Given the description of an element on the screen output the (x, y) to click on. 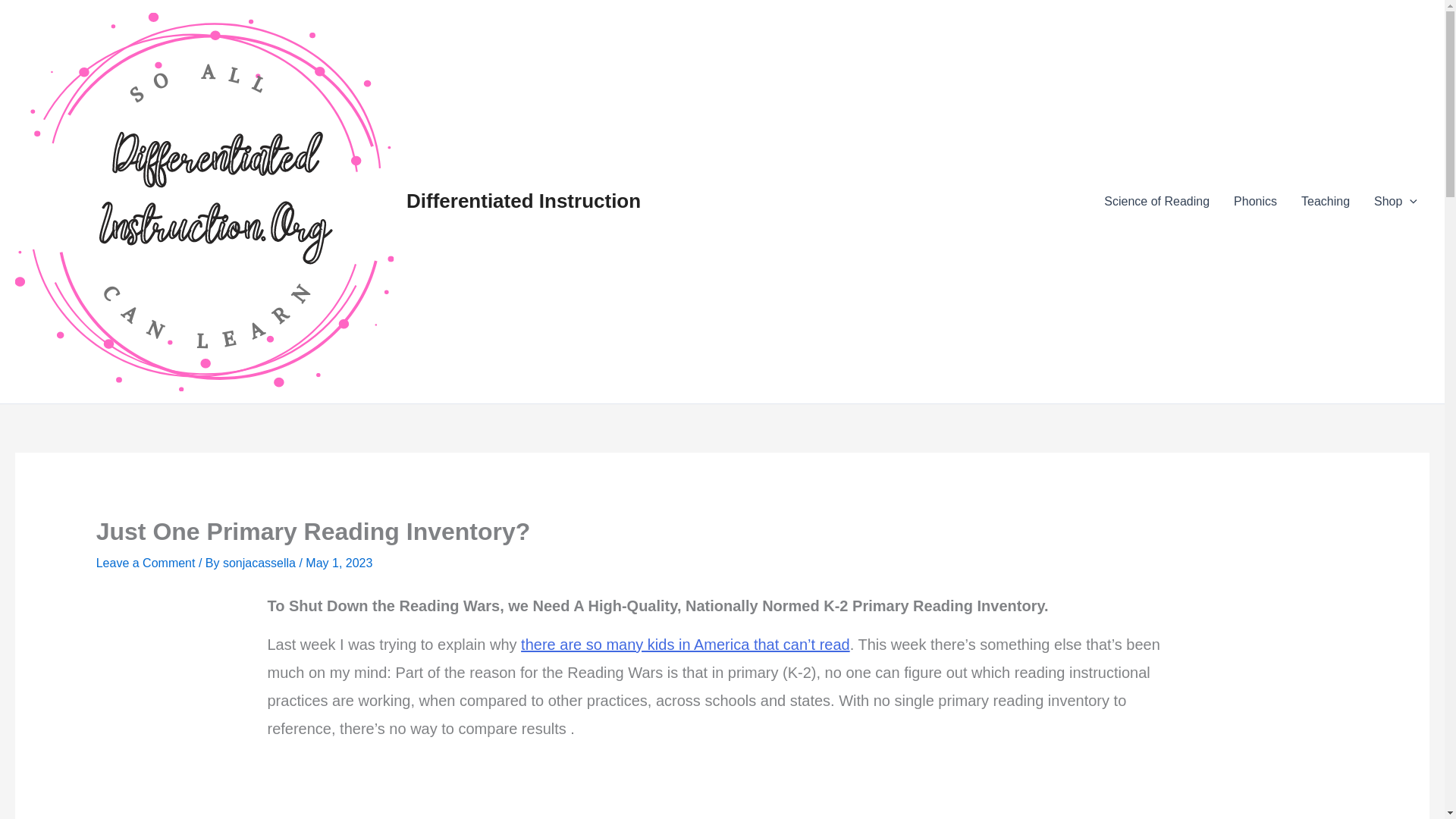
Phonics (1254, 201)
View all posts by sonjacassella (260, 562)
sonjacassella (260, 562)
Science of Reading (1156, 201)
Leave a Comment (145, 562)
Shop (1395, 201)
Differentiated Instruction (523, 200)
Teaching (1324, 201)
